Given the description of an element on the screen output the (x, y) to click on. 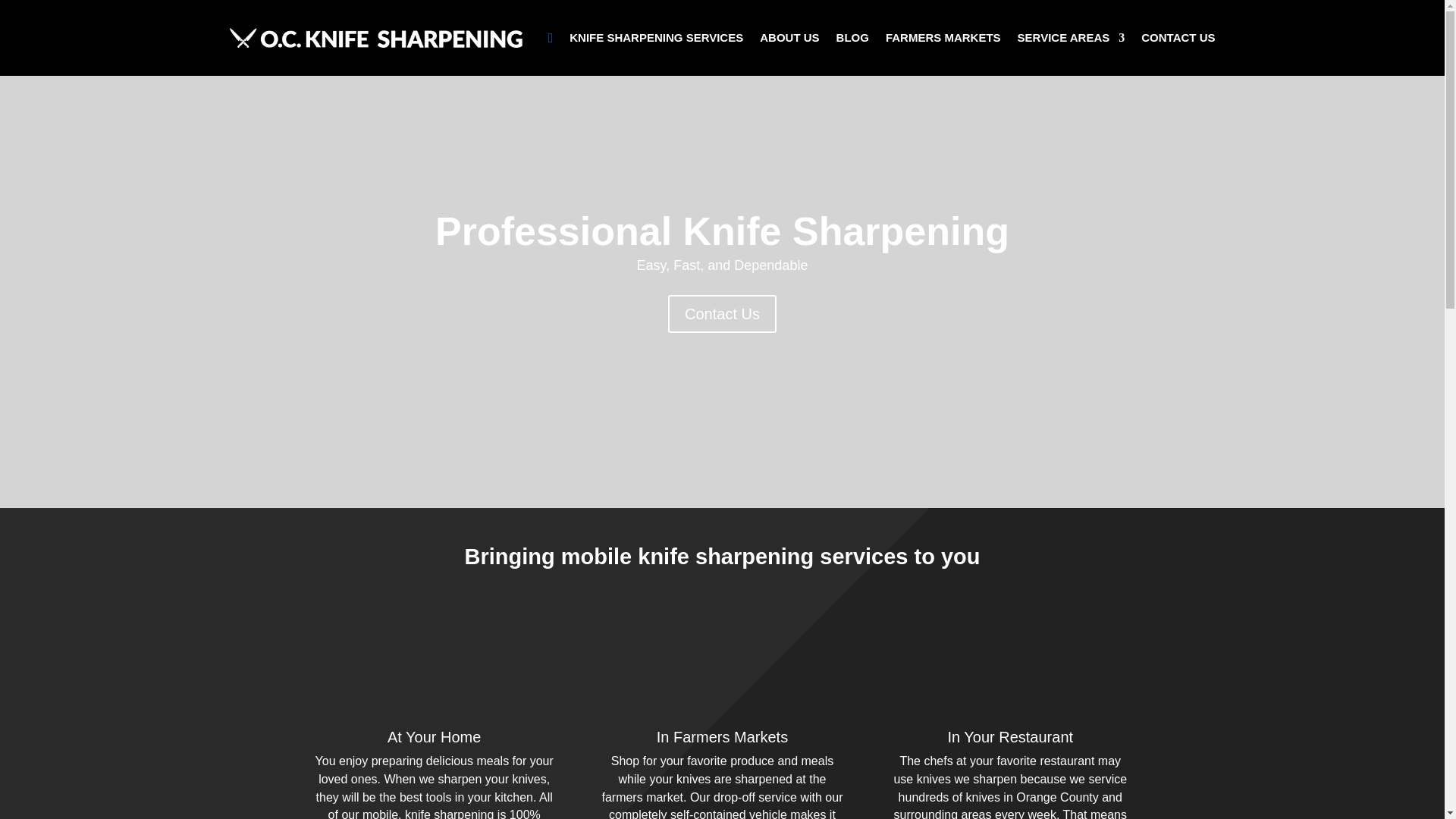
KNIFE SHARPENING SERVICES (655, 37)
ABOUT US (789, 37)
SERVICE AREAS (1071, 37)
Contact Us (722, 313)
FARMERS MARKETS (943, 37)
CONTACT US (1177, 37)
